Given the description of an element on the screen output the (x, y) to click on. 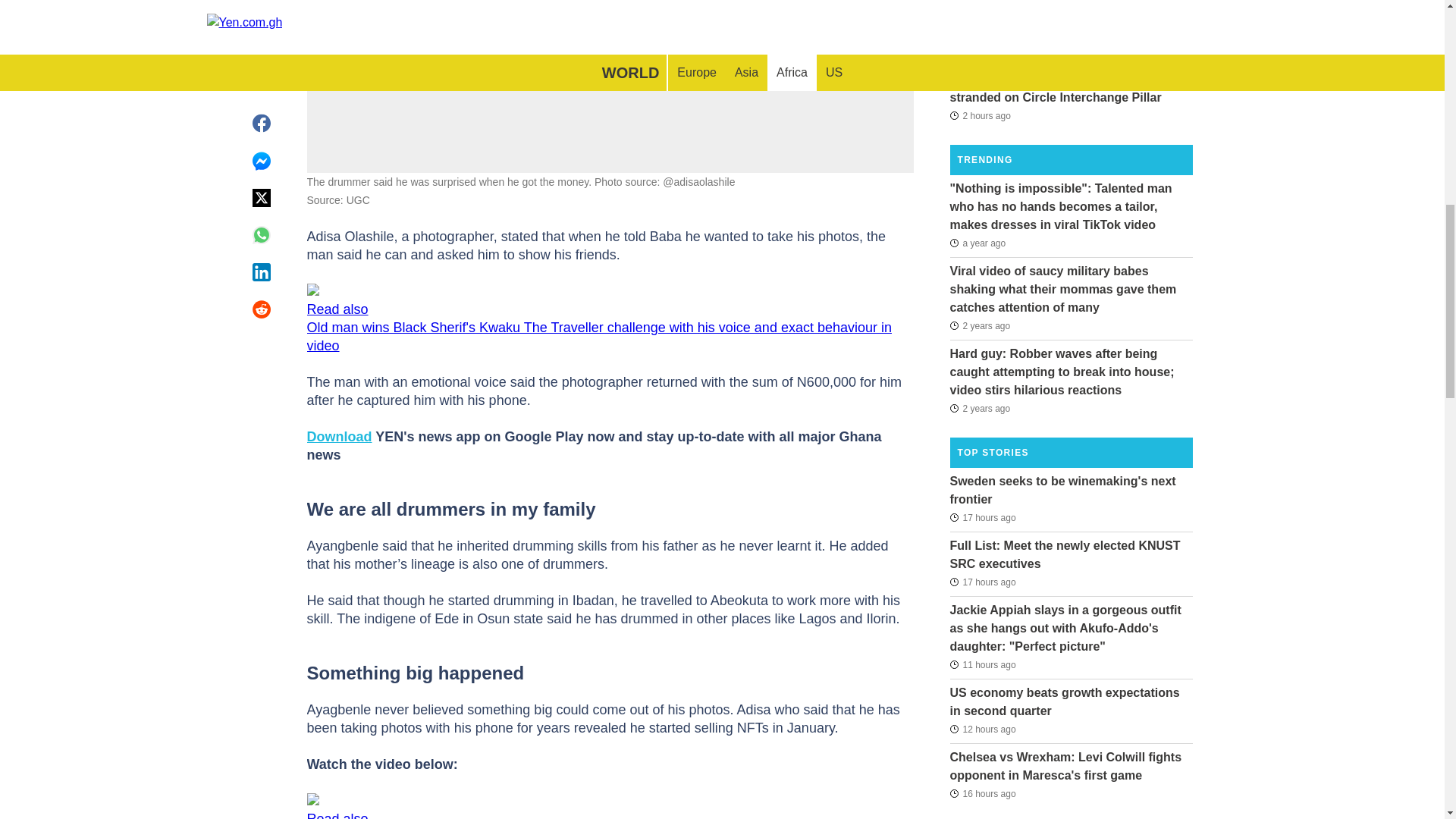
2023-03-08T07:15:37Z (977, 242)
The man was very glad he got the money. (609, 38)
2024-07-25T09:33:40Z (981, 792)
2024-07-25T13:16:04Z (981, 729)
2024-07-25T08:25:14Z (981, 582)
2024-07-25T14:32:52Z (981, 664)
2024-07-25T23:15:21Z (979, 115)
2022-04-27T08:07:53Z (979, 407)
2024-07-25T08:18:04Z (981, 516)
2022-05-27T14:44:20Z (979, 325)
2024-07-25T23:45:11Z (979, 51)
